Given the description of an element on the screen output the (x, y) to click on. 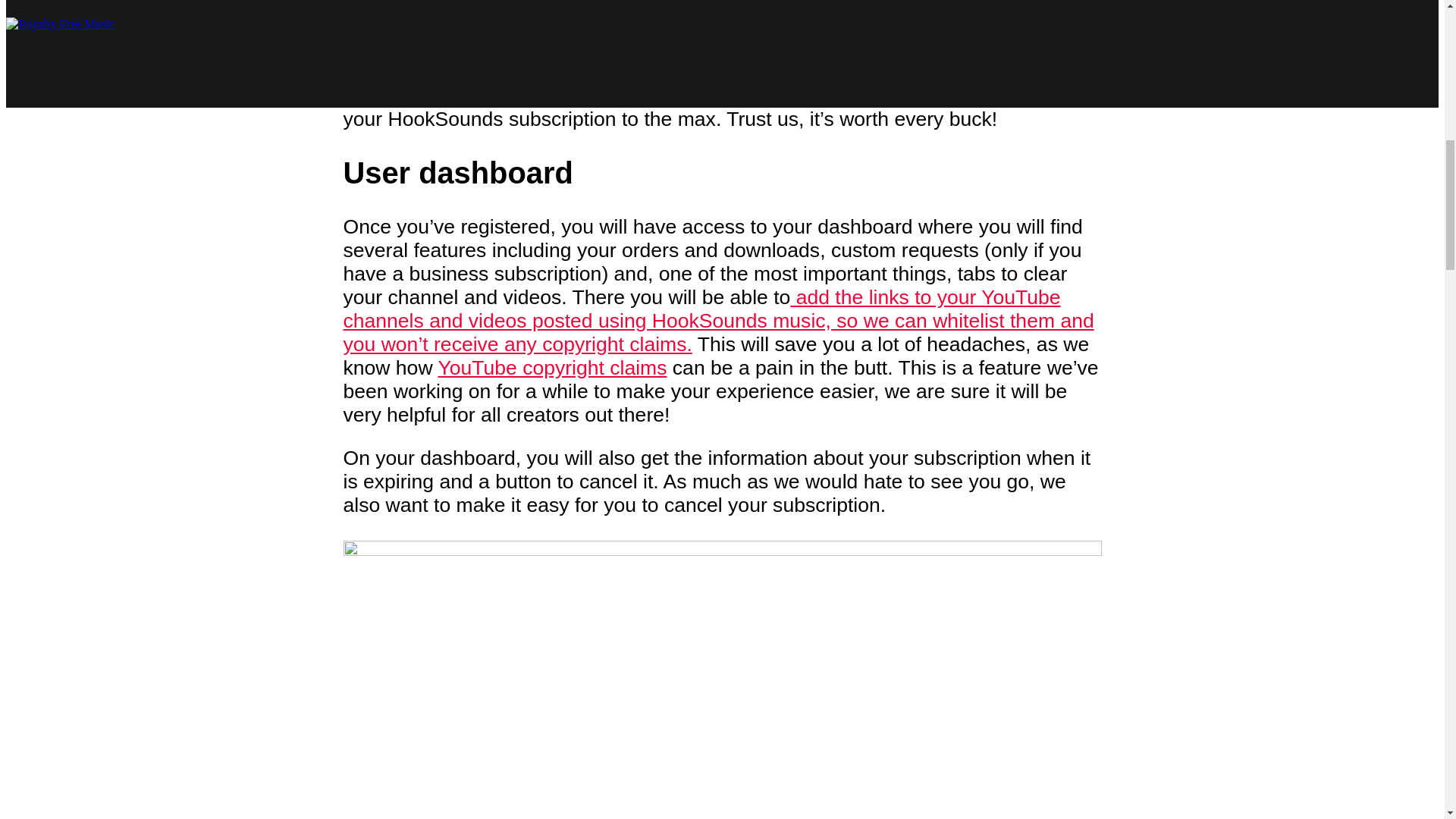
YouTube copyright claims (552, 367)
